Given the description of an element on the screen output the (x, y) to click on. 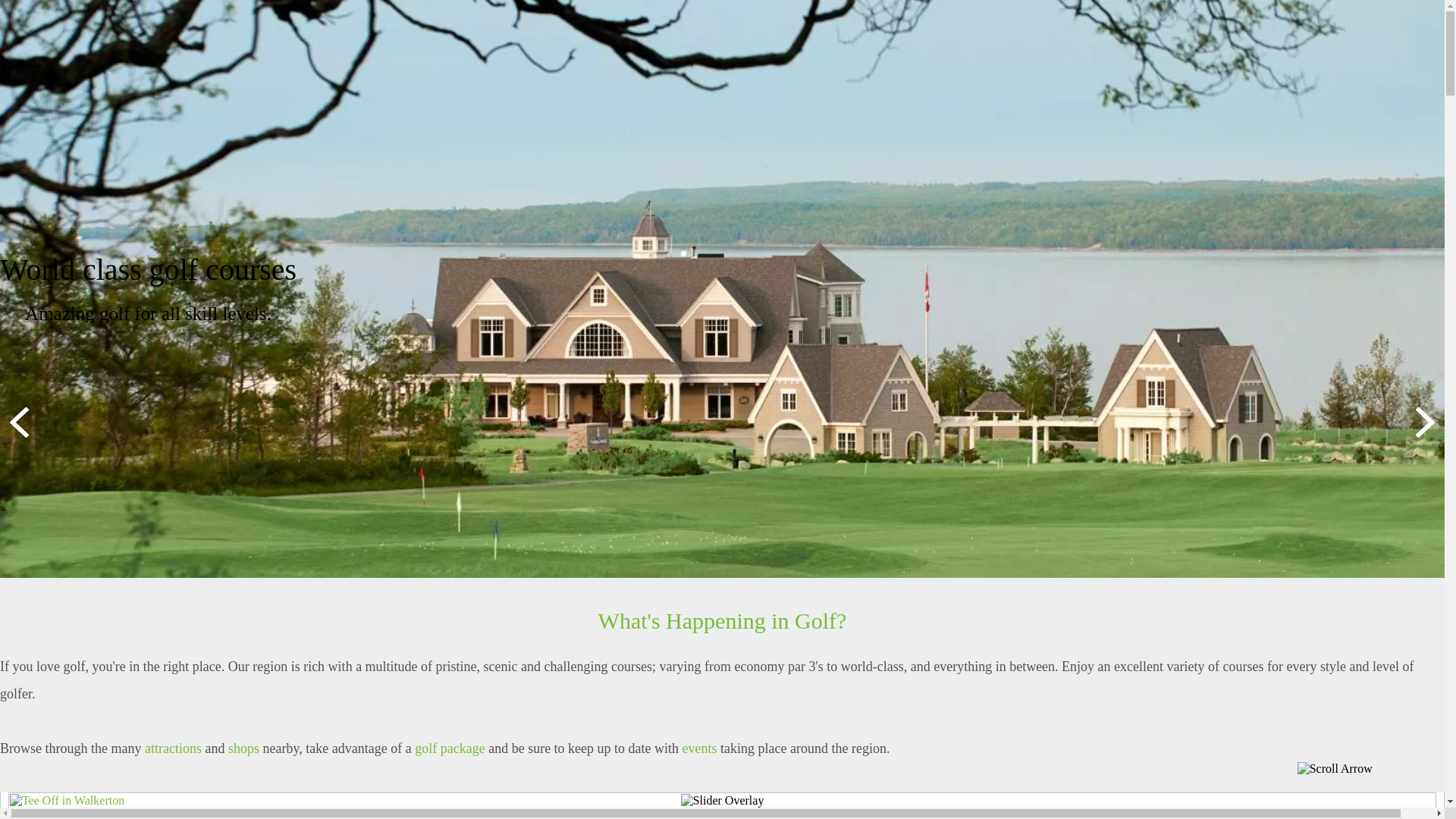
events Element type: text (699, 748)
All Things Golf Element type: text (510, 113)
shops Element type: text (243, 748)
What'S Nearby Element type: text (851, 113)
golf package Element type: text (449, 748)
Events Element type: text (731, 113)
Stories Element type: text (632, 113)
Map Element type: text (964, 113)
attractions Element type: text (172, 748)
